Given the description of an element on the screen output the (x, y) to click on. 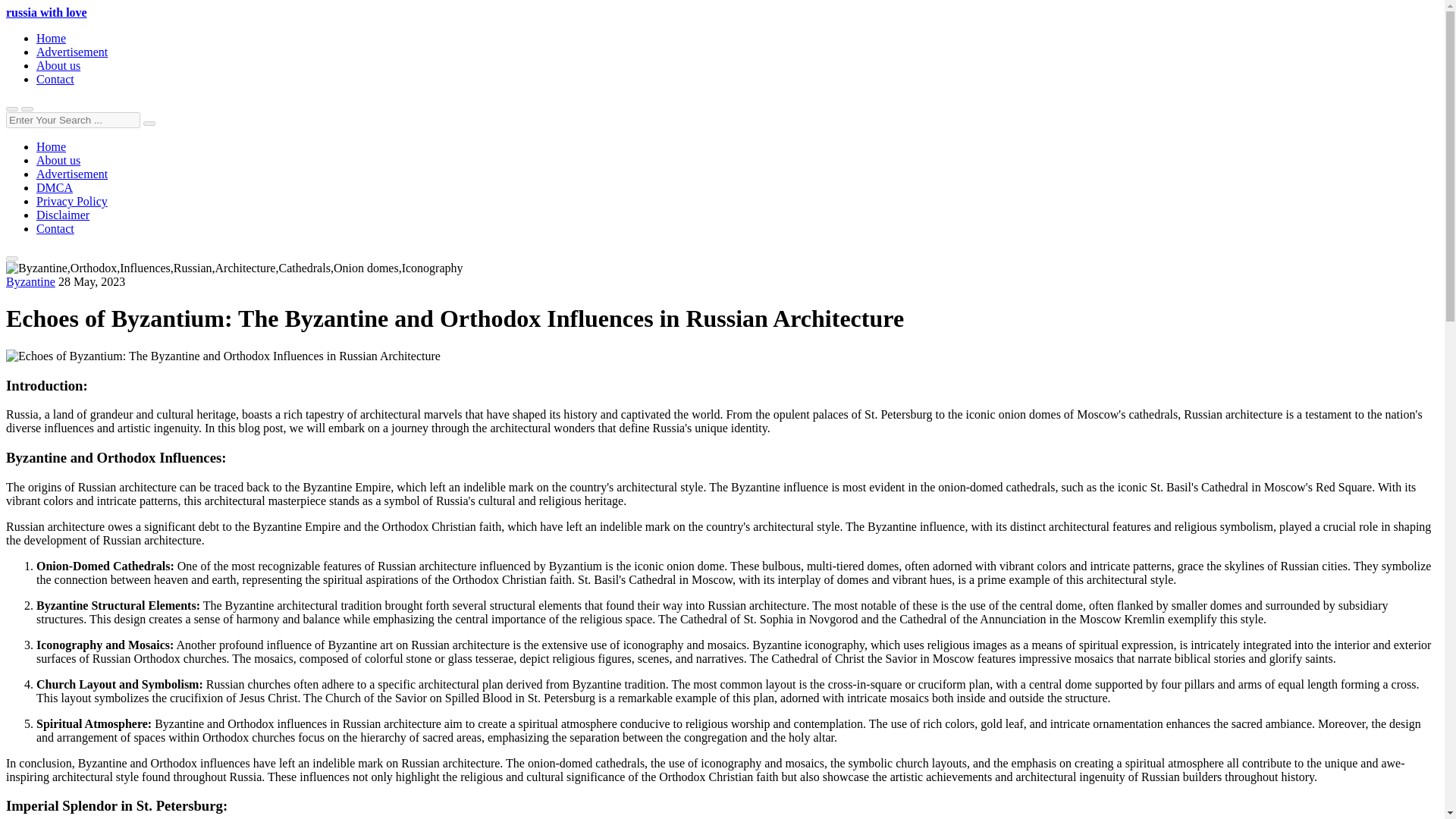
Advertisement (71, 173)
Advertisement (71, 51)
Home (50, 38)
Contact (55, 78)
Disclaimer (62, 214)
About us (58, 160)
Privacy Policy (71, 201)
About us (58, 65)
DMCA (54, 187)
Byzantine (30, 281)
